Given the description of an element on the screen output the (x, y) to click on. 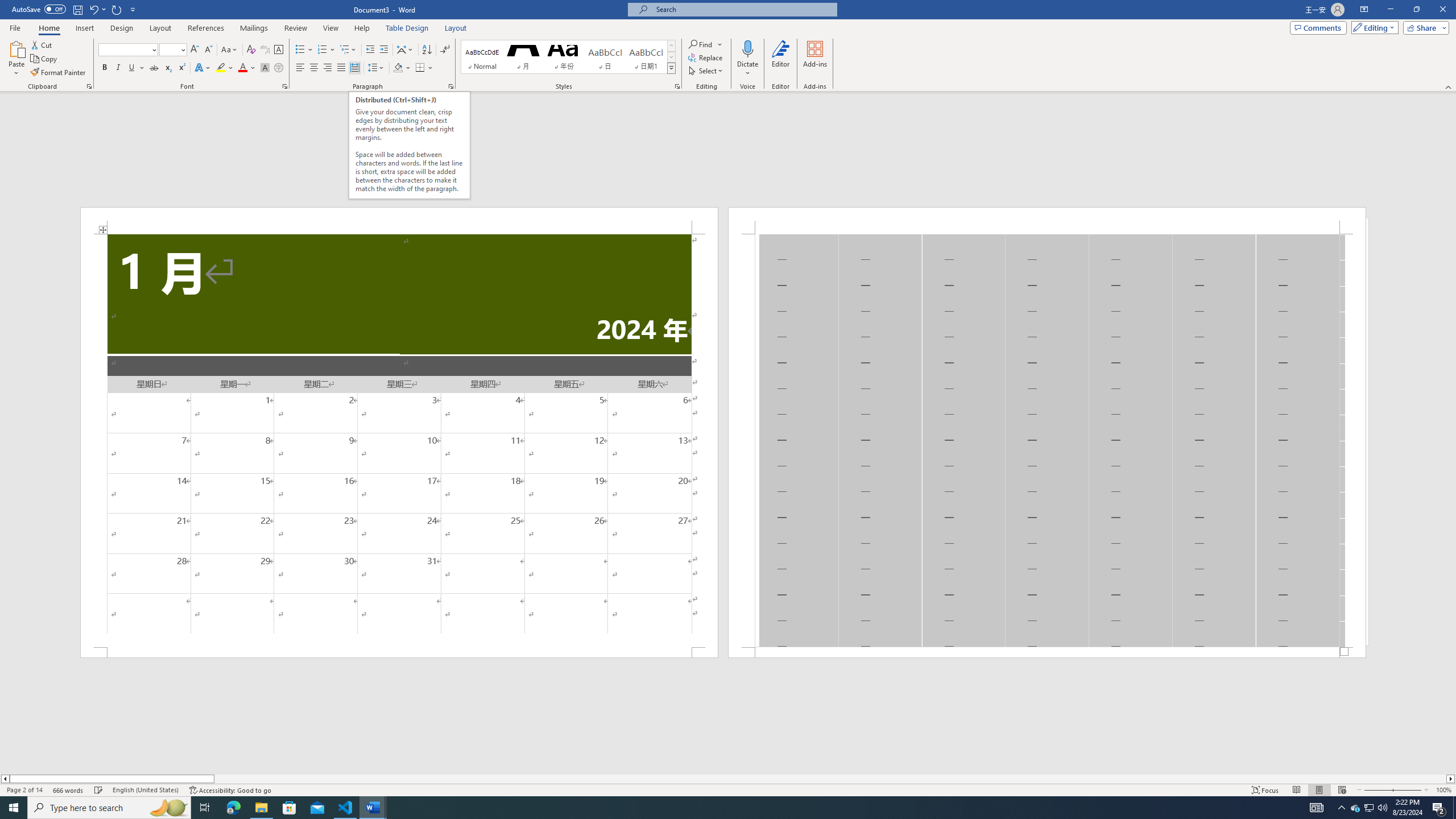
Undo Apply Quick Style (92, 9)
